Given the description of an element on the screen output the (x, y) to click on. 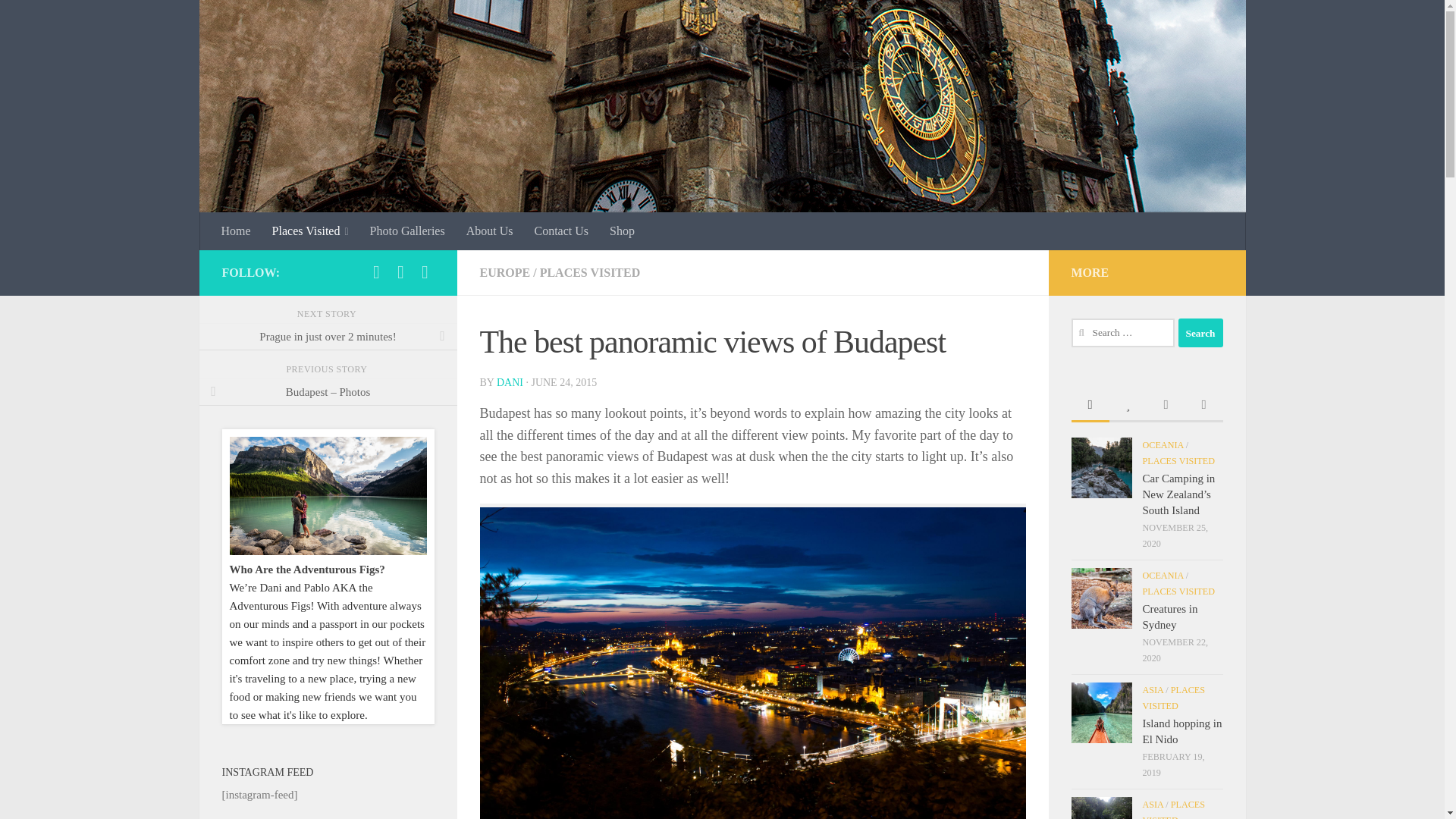
Search (1200, 332)
PLACES VISITED (590, 272)
About Us (489, 231)
Tags (1204, 405)
Search (1200, 332)
Follow us on Facebook (375, 271)
Popular Posts (1127, 405)
DANI (509, 382)
EUROPE (504, 272)
Recent Comments (1166, 405)
Contact Us (560, 231)
Follow us on Youtube (423, 271)
Skip to content (59, 20)
Places Visited (310, 231)
Home (236, 231)
